Given the description of an element on the screen output the (x, y) to click on. 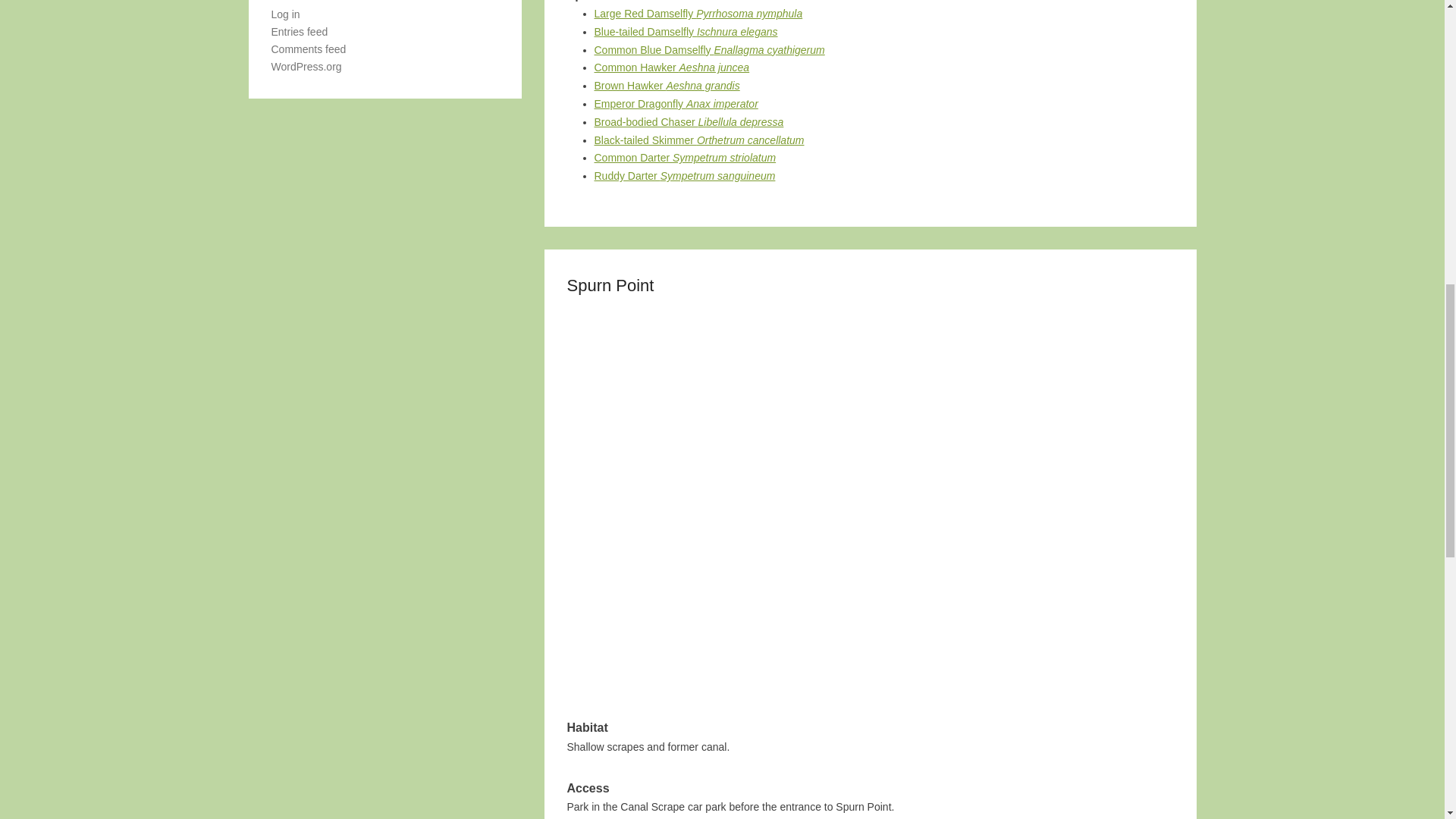
Permalink to Spurn Point (610, 285)
Common Darter Sympetrum striolatum (685, 157)
Common Blue Damselfly Enallagma cyathigerum (709, 50)
Blue-tailed Damselfly Ischnura elegans (685, 31)
Brown Hawker Aeshna grandis (666, 85)
Broad-bodied Chaser Libellula depressa (689, 121)
Black-tailed Skimmer Orthetrum cancellatum (699, 140)
Common Hawker Aeshna juncea (671, 67)
Emperor Dragonfly Anax imperator (676, 103)
Large Red Damselfly Pyrrhosoma nymphula (698, 13)
